Given the description of an element on the screen output the (x, y) to click on. 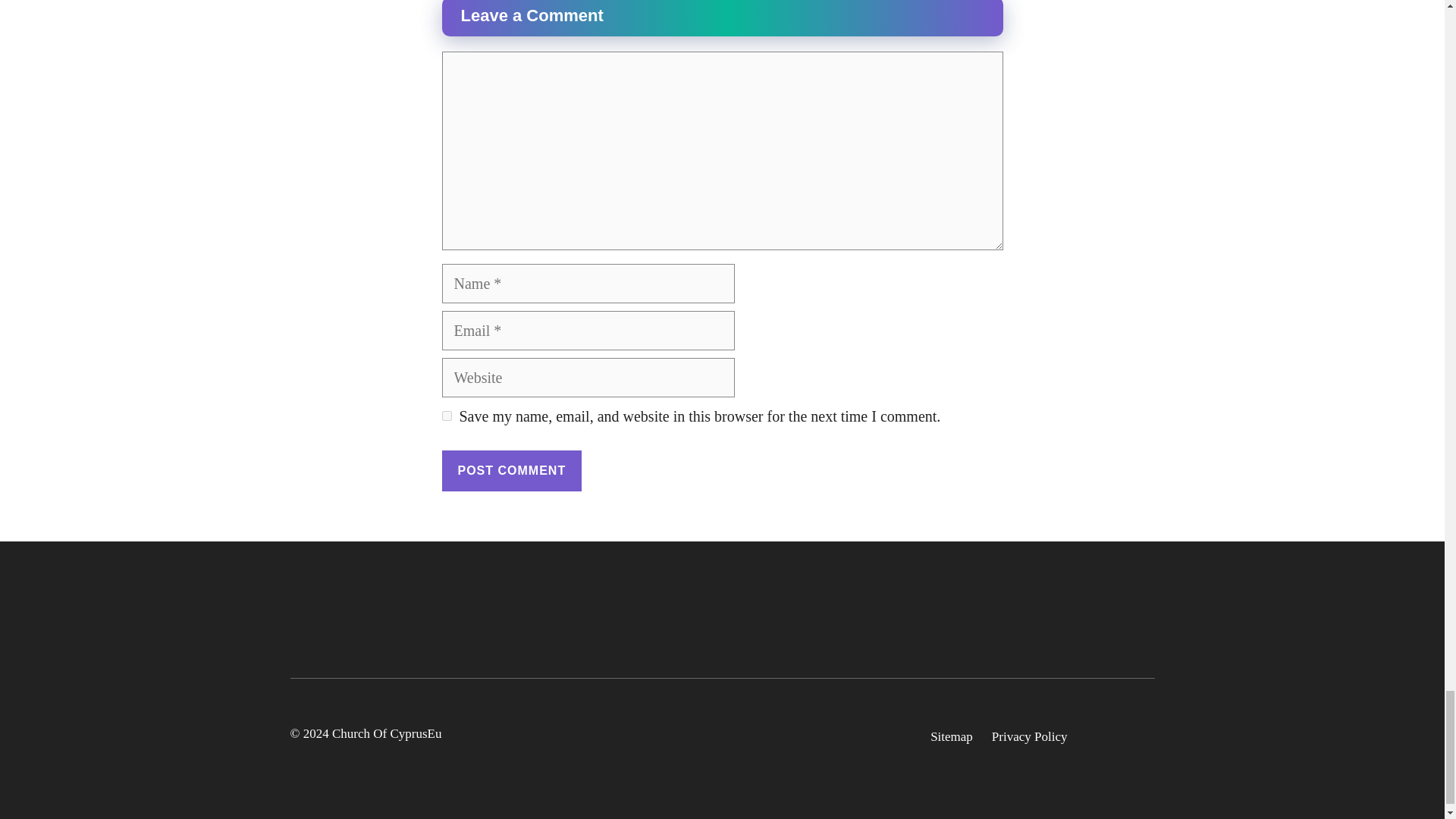
Post Comment (510, 470)
Sitemap (951, 736)
Privacy Policy (1029, 736)
Contact Us (1118, 735)
Post Comment (510, 470)
yes (446, 415)
